Given the description of an element on the screen output the (x, y) to click on. 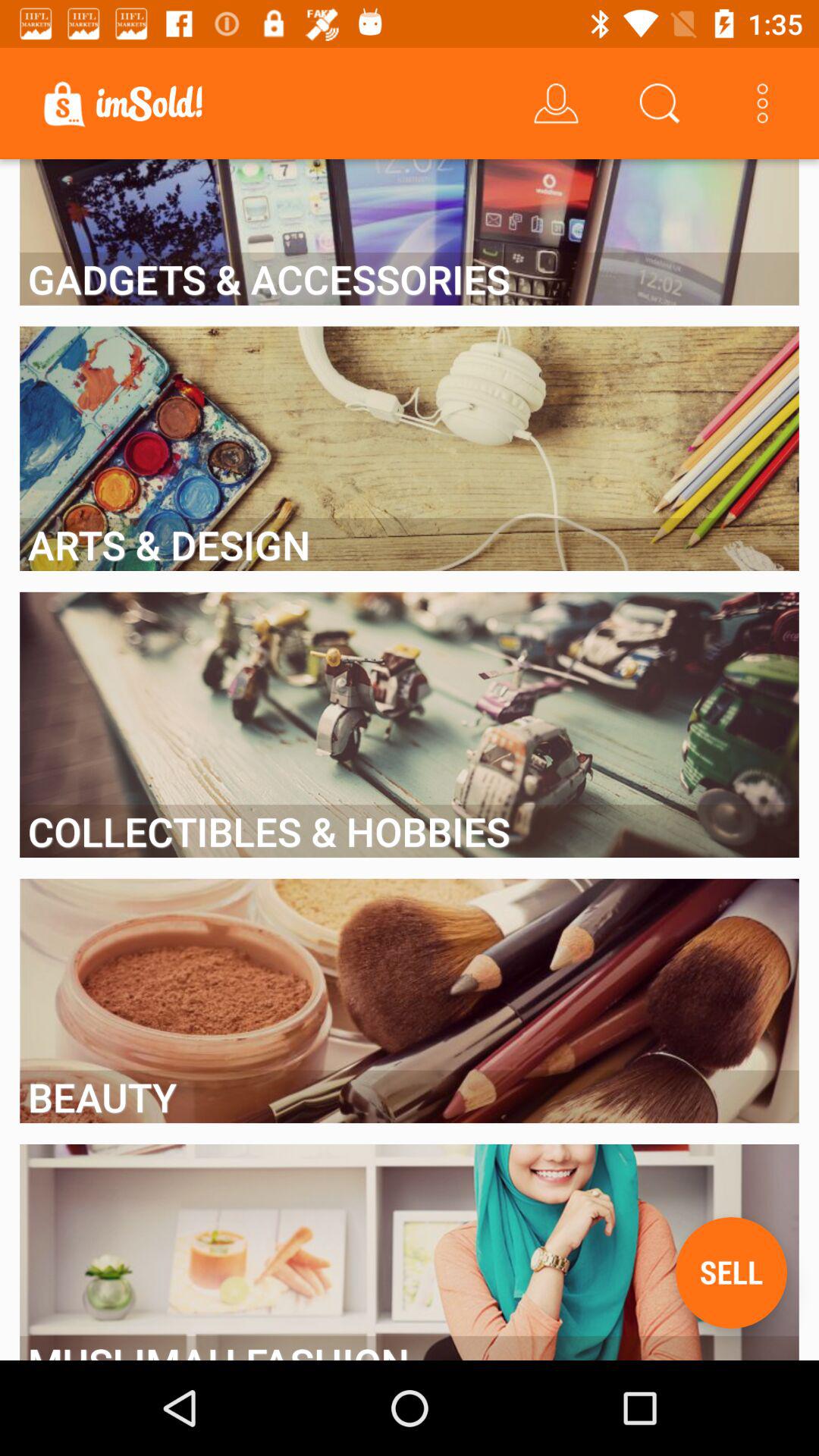
flip to the beauty item (409, 1096)
